Given the description of an element on the screen output the (x, y) to click on. 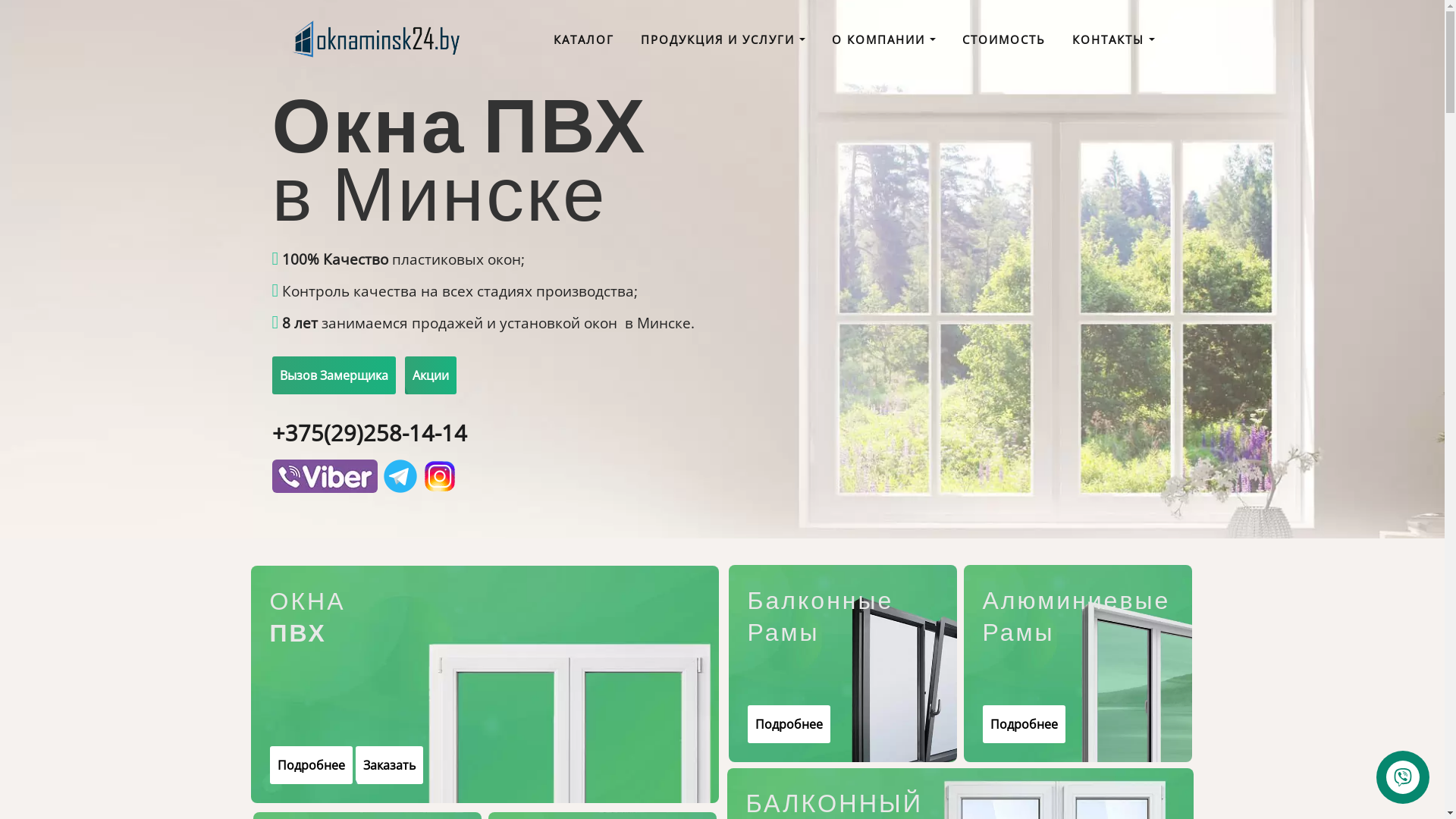
+375(29)258-14-14 Element type: text (368, 432)
